Given the description of an element on the screen output the (x, y) to click on. 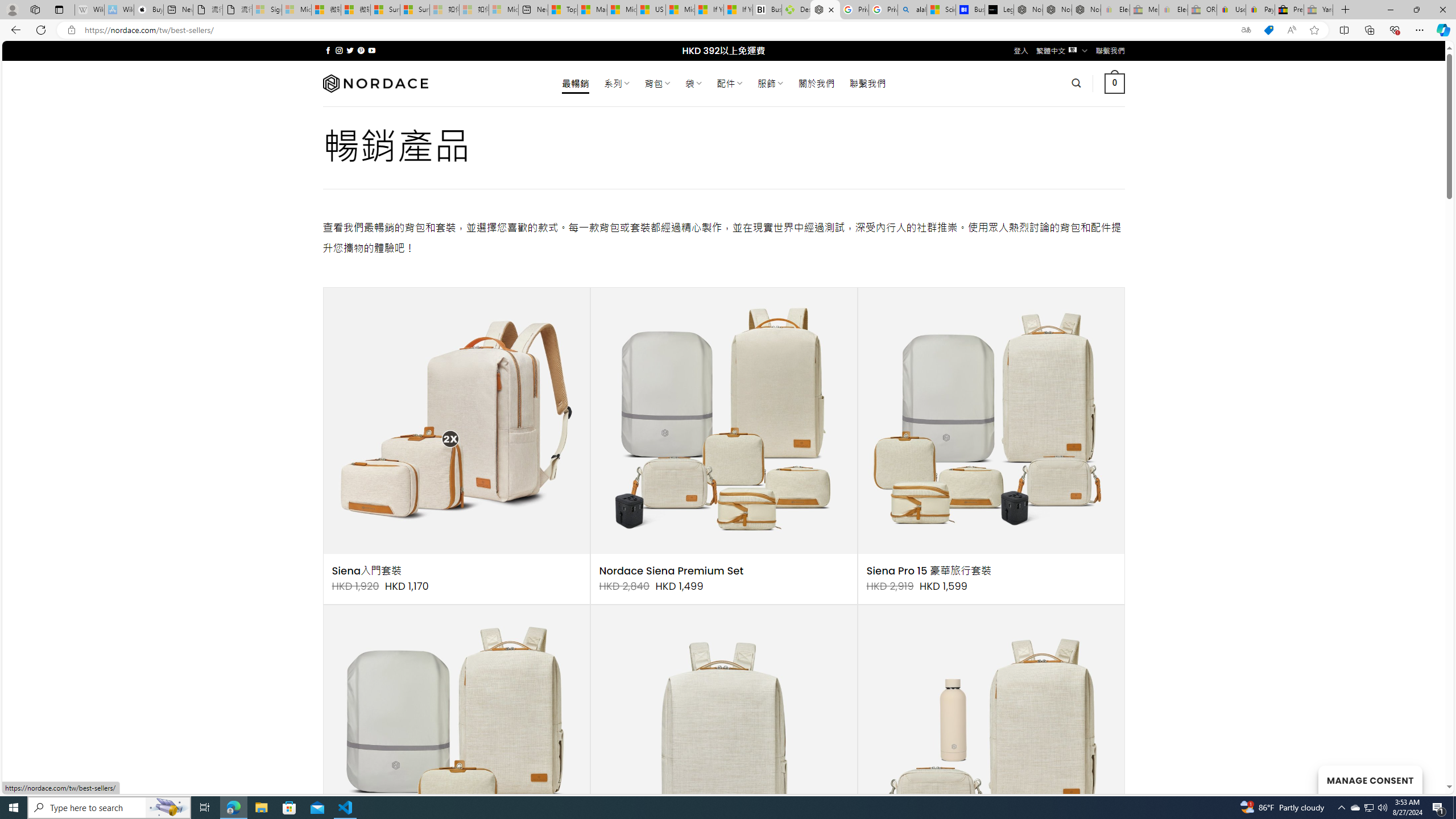
Show translate options (1245, 29)
Follow on Twitter (349, 50)
MANAGE CONSENT (1369, 779)
Follow on Instagram (338, 50)
Payments Terms of Use | eBay.com (1259, 9)
Microsoft Start (679, 9)
Collections (1369, 29)
